Given the description of an element on the screen output the (x, y) to click on. 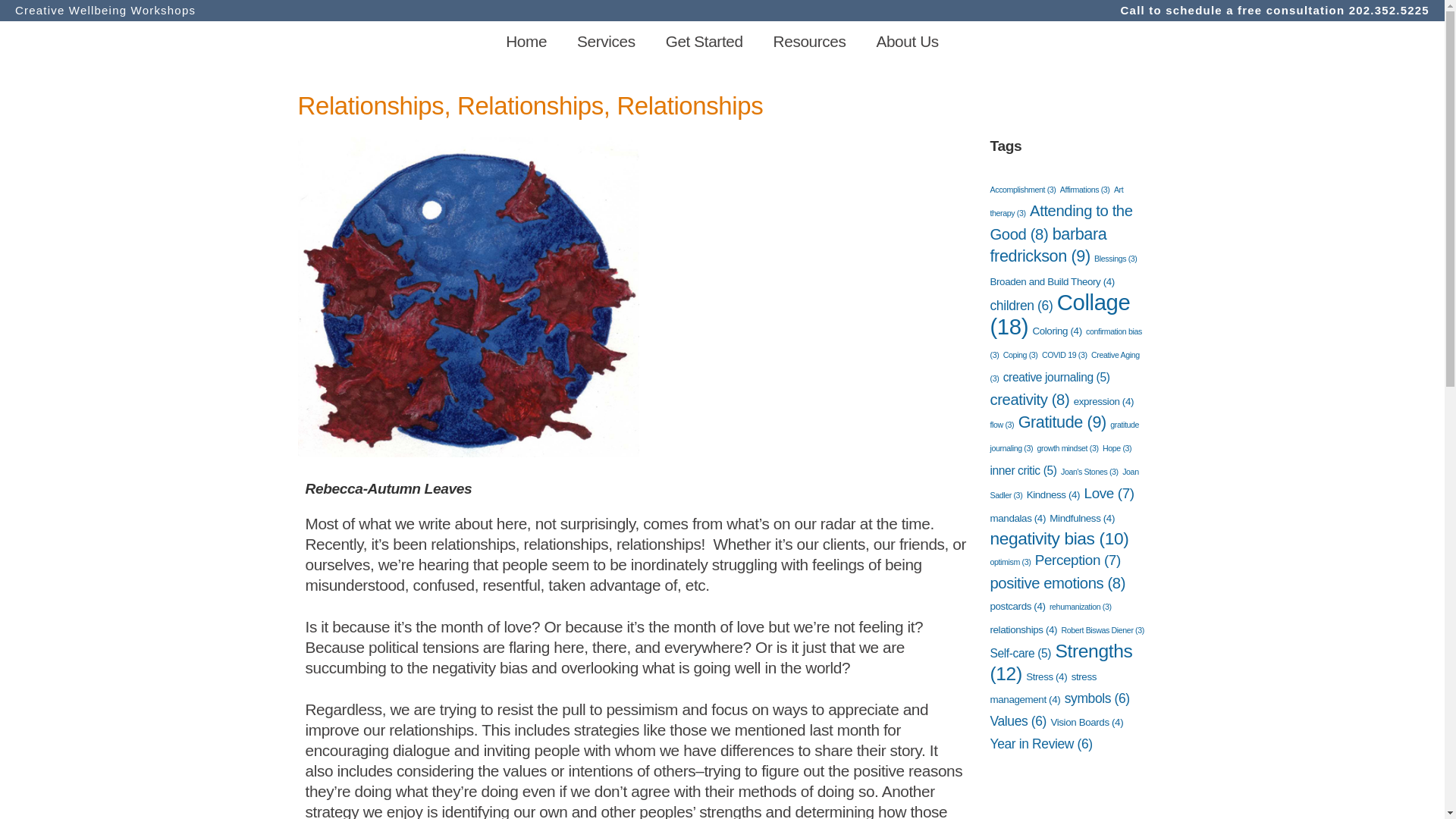
Resources (809, 41)
Get Started (704, 41)
Services (606, 41)
Home (526, 41)
About Us (906, 41)
Welcome to Creative Wellbeing Workshops (526, 41)
